Given the description of an element on the screen output the (x, y) to click on. 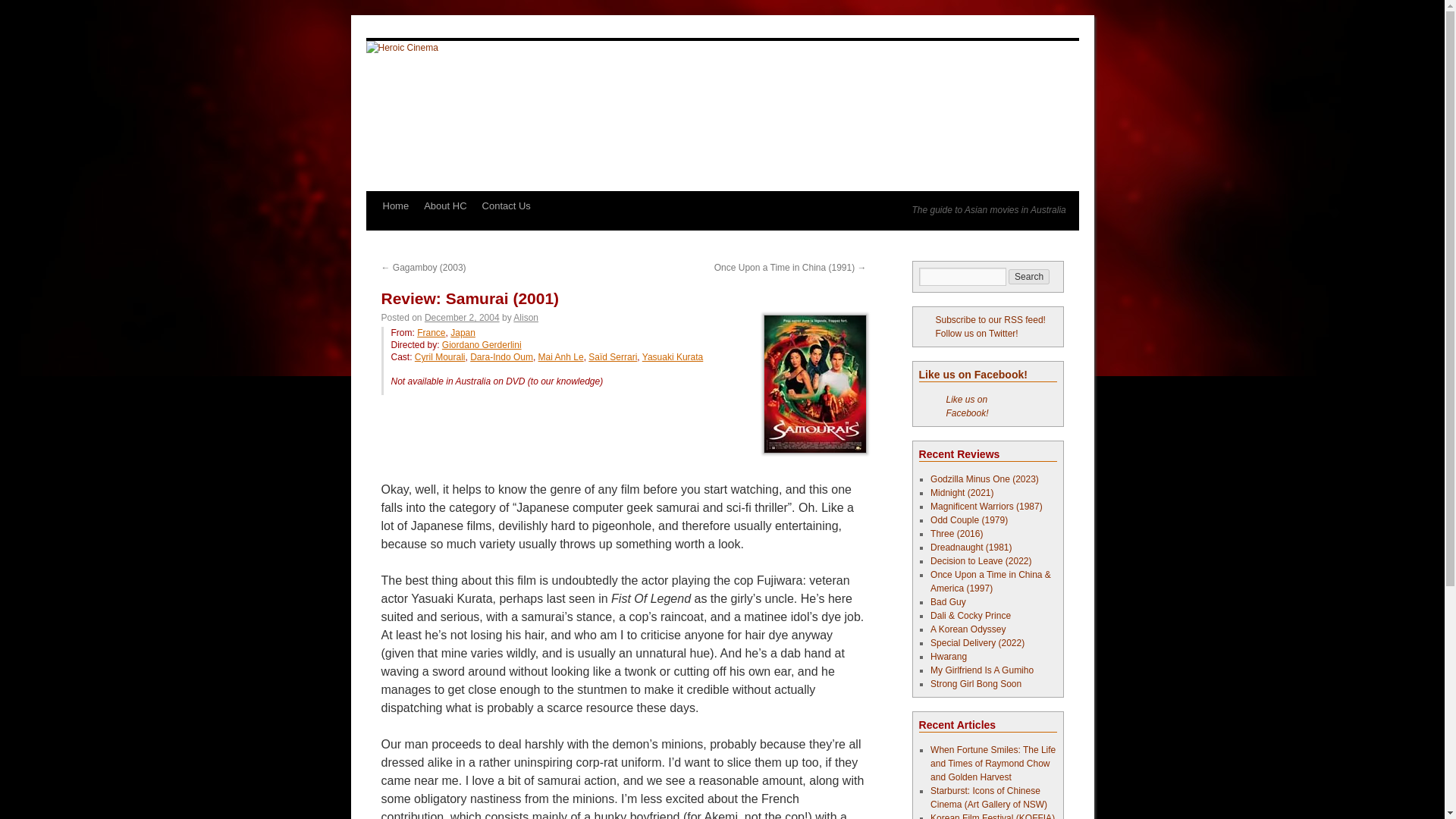
Like us on Facebook! (967, 405)
Cyril Mourali (439, 357)
France (430, 332)
Follow us on Twitter! (968, 333)
Skip to content (372, 233)
Bad Guy (948, 602)
View all posts by Alison (525, 317)
Search (1029, 276)
Contact Us (506, 205)
Dara-Indo Oum (501, 357)
6:11 am (462, 317)
Mai Anh Le (560, 357)
Like us on Facebook! (972, 374)
Search (1029, 276)
Alison (525, 317)
